Given the description of an element on the screen output the (x, y) to click on. 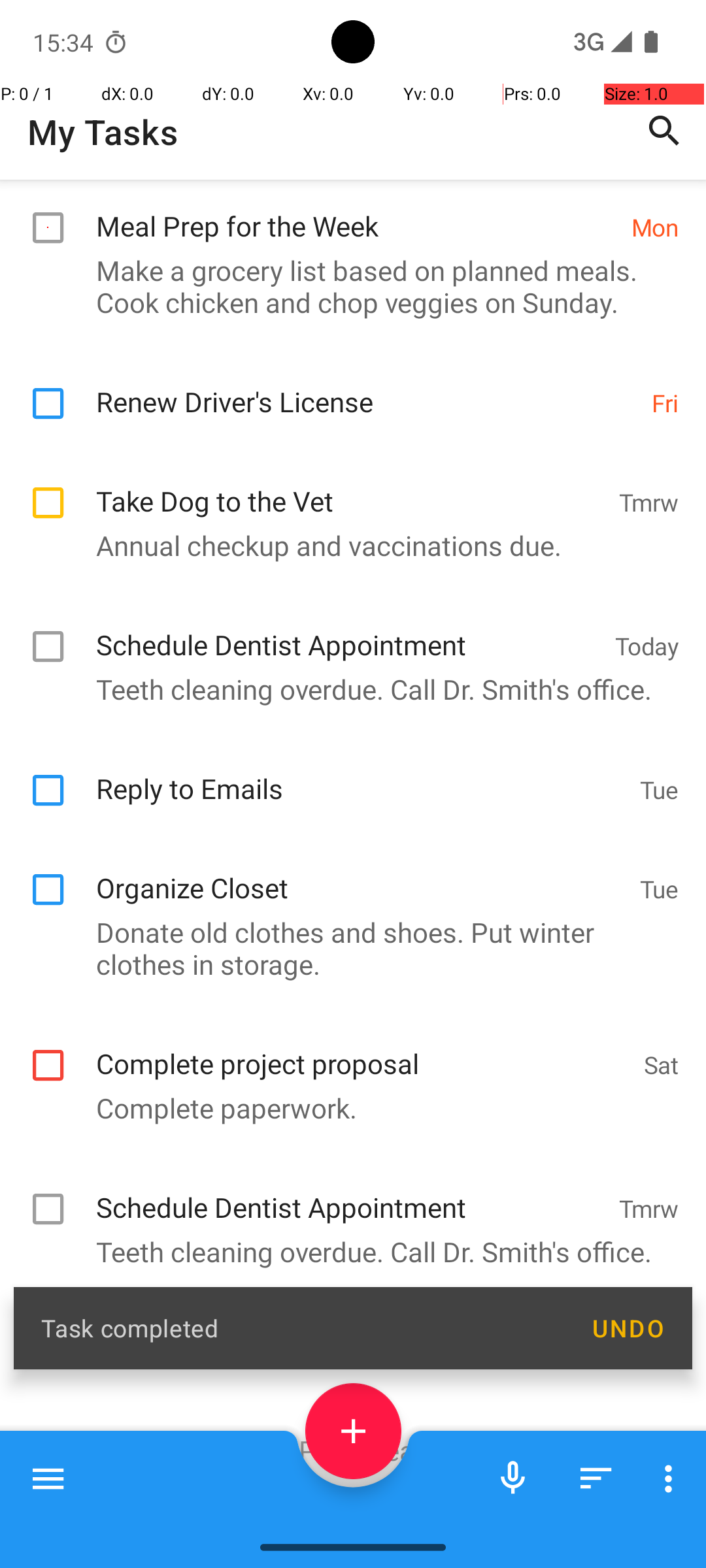
Task completed Element type: android.widget.TextView (302, 1327)
Complete project proposal Element type: android.widget.TextView (363, 1077)
Complete paperwork. Element type: android.widget.TextView (346, 1136)
